Given the description of an element on the screen output the (x, y) to click on. 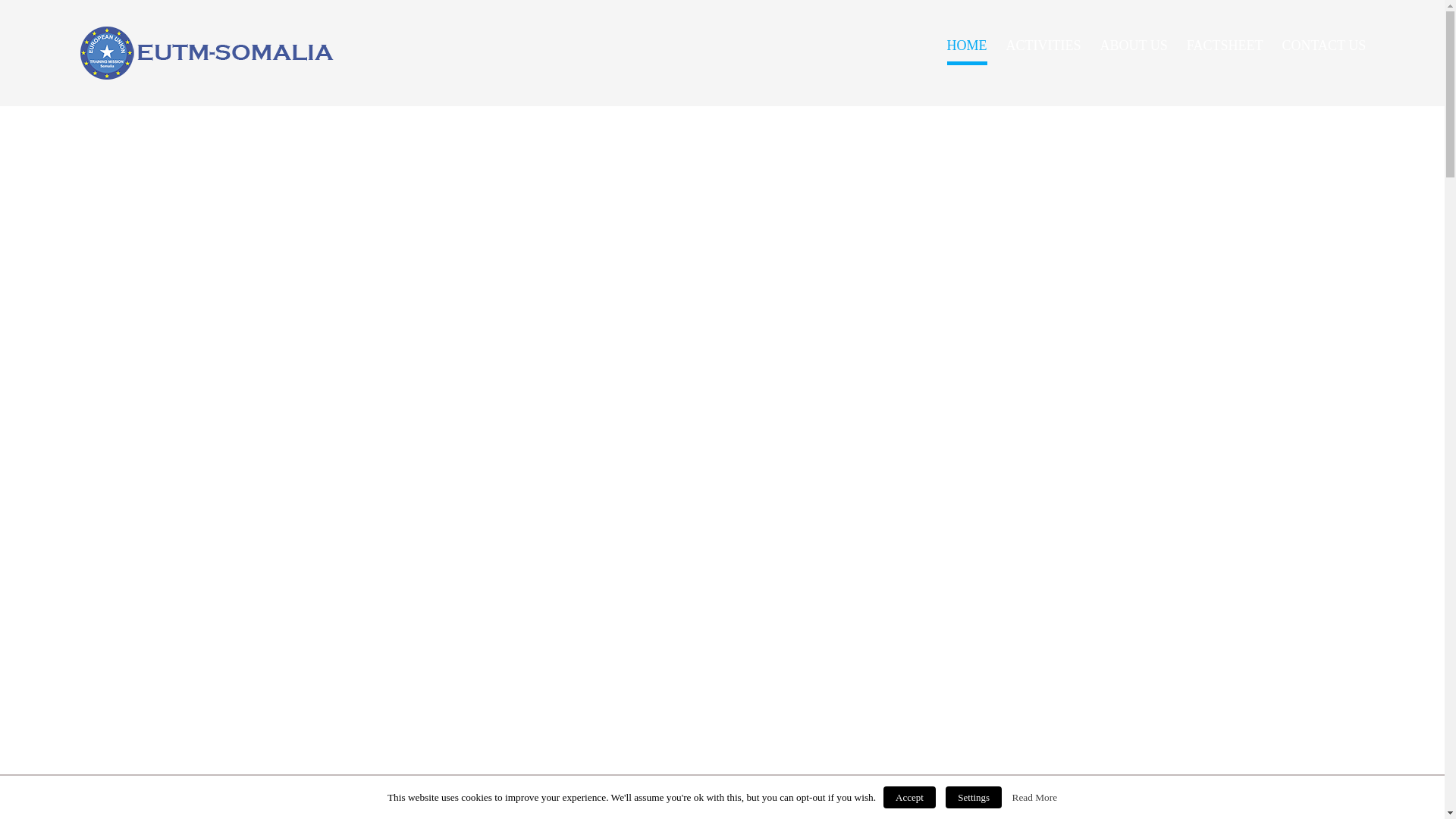
CONTACT US (1323, 45)
